Given the description of an element on the screen output the (x, y) to click on. 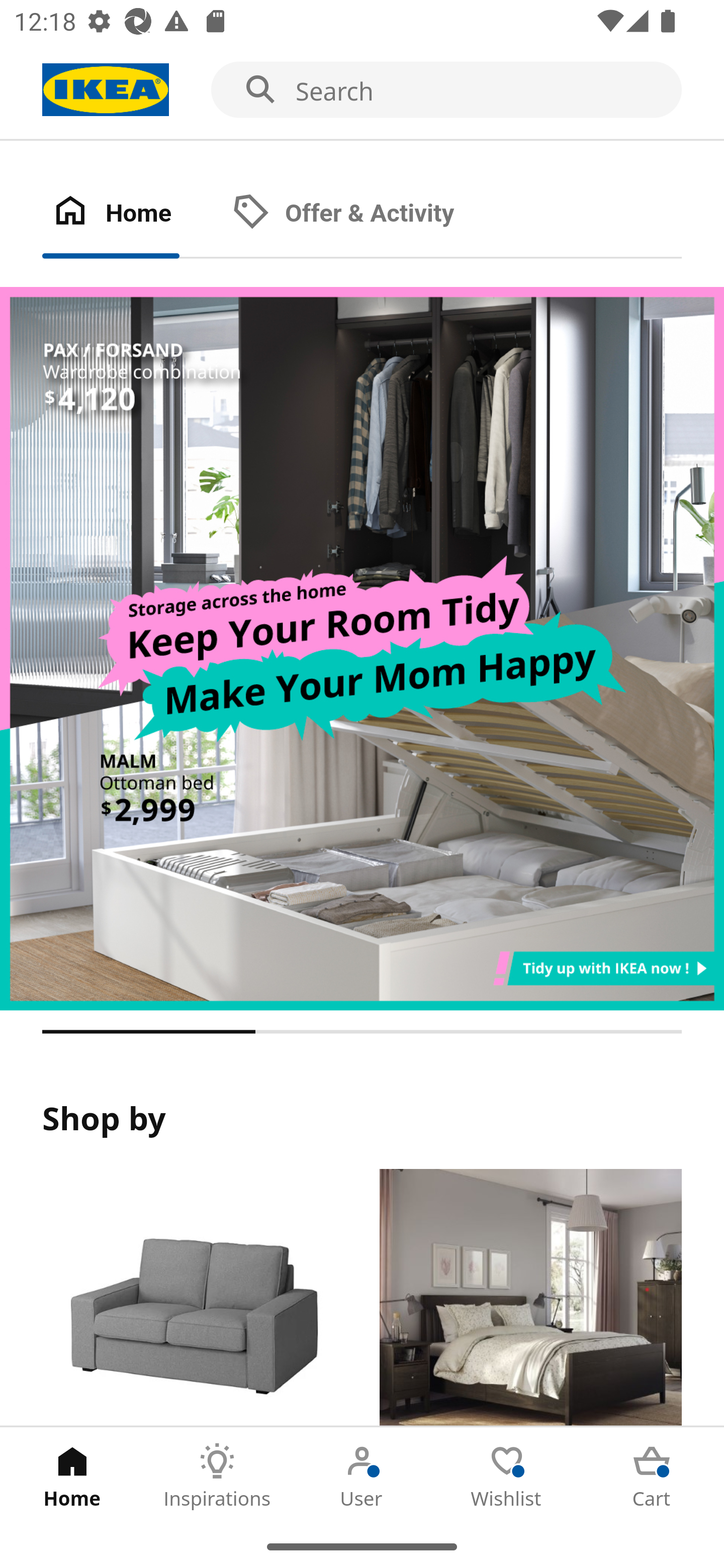
Search (361, 90)
Home
Tab 1 of 2 (131, 213)
Offer & Activity
Tab 2 of 2 (363, 213)
Products (192, 1297)
Rooms (530, 1297)
Home
Tab 1 of 5 (72, 1476)
Inspirations
Tab 2 of 5 (216, 1476)
User
Tab 3 of 5 (361, 1476)
Wishlist
Tab 4 of 5 (506, 1476)
Cart
Tab 5 of 5 (651, 1476)
